Given the description of an element on the screen output the (x, y) to click on. 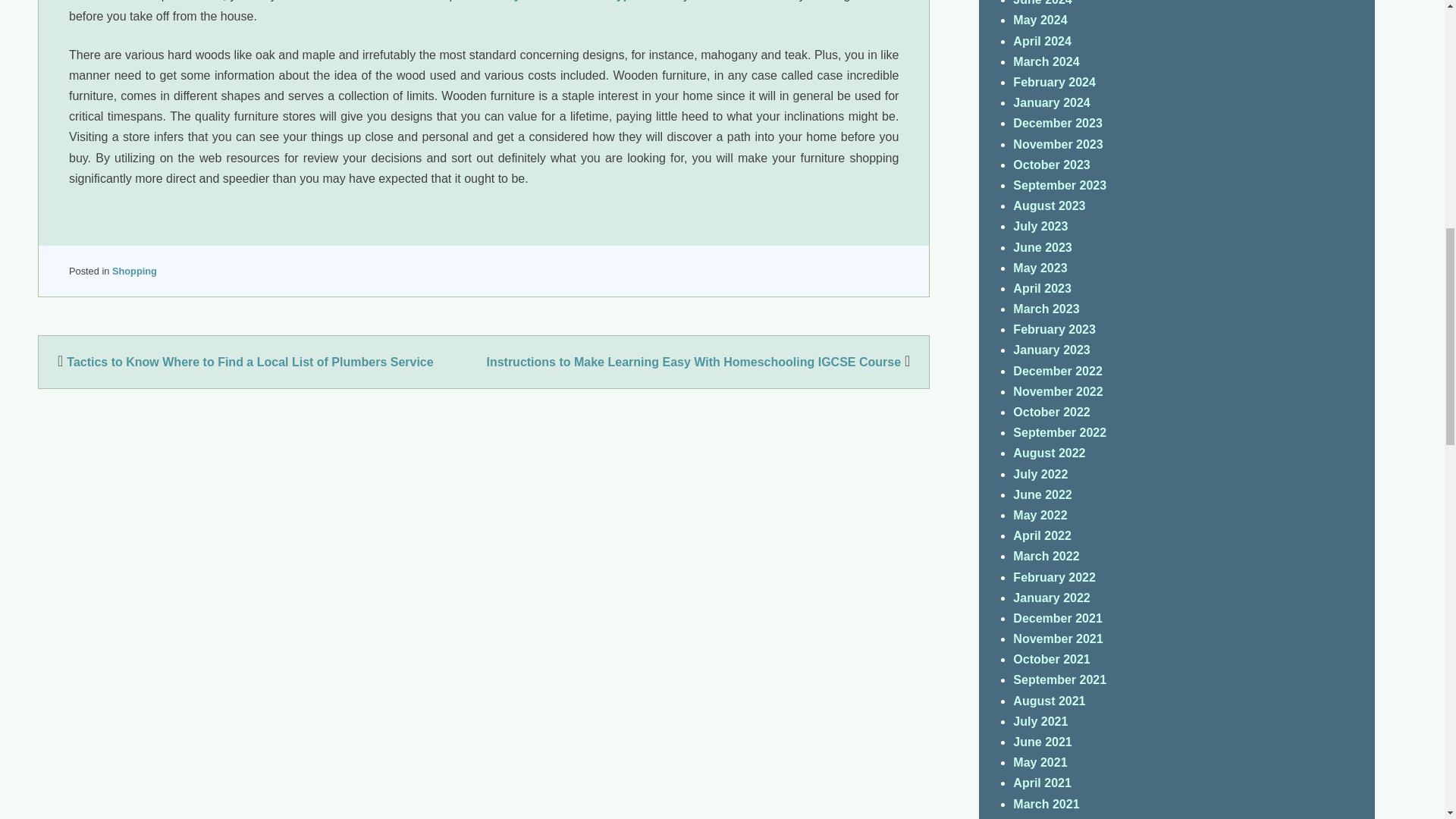
October 2023 (1051, 164)
January 2024 (1051, 102)
September 2023 (1059, 185)
November 2023 (1057, 144)
December 2023 (1057, 123)
April 2024 (1041, 41)
August 2022 (1048, 452)
January 2023 (1051, 349)
June 2024 (1042, 2)
July 2023 (1040, 226)
September 2022 (1059, 431)
February 2023 (1054, 328)
March 2024 (1045, 61)
